Given the description of an element on the screen output the (x, y) to click on. 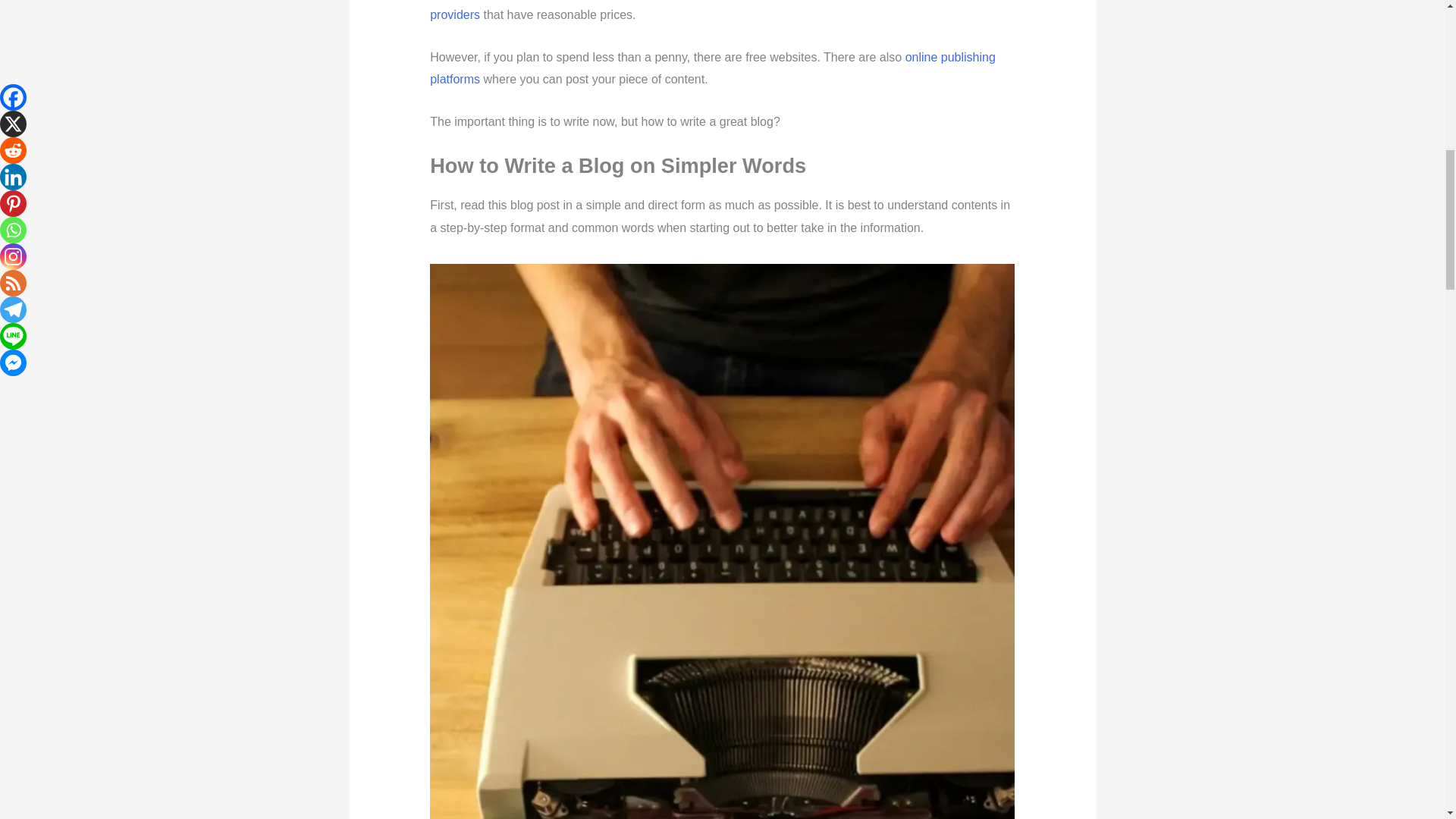
web hosting providers (700, 11)
online publishing platforms (712, 68)
